Given the description of an element on the screen output the (x, y) to click on. 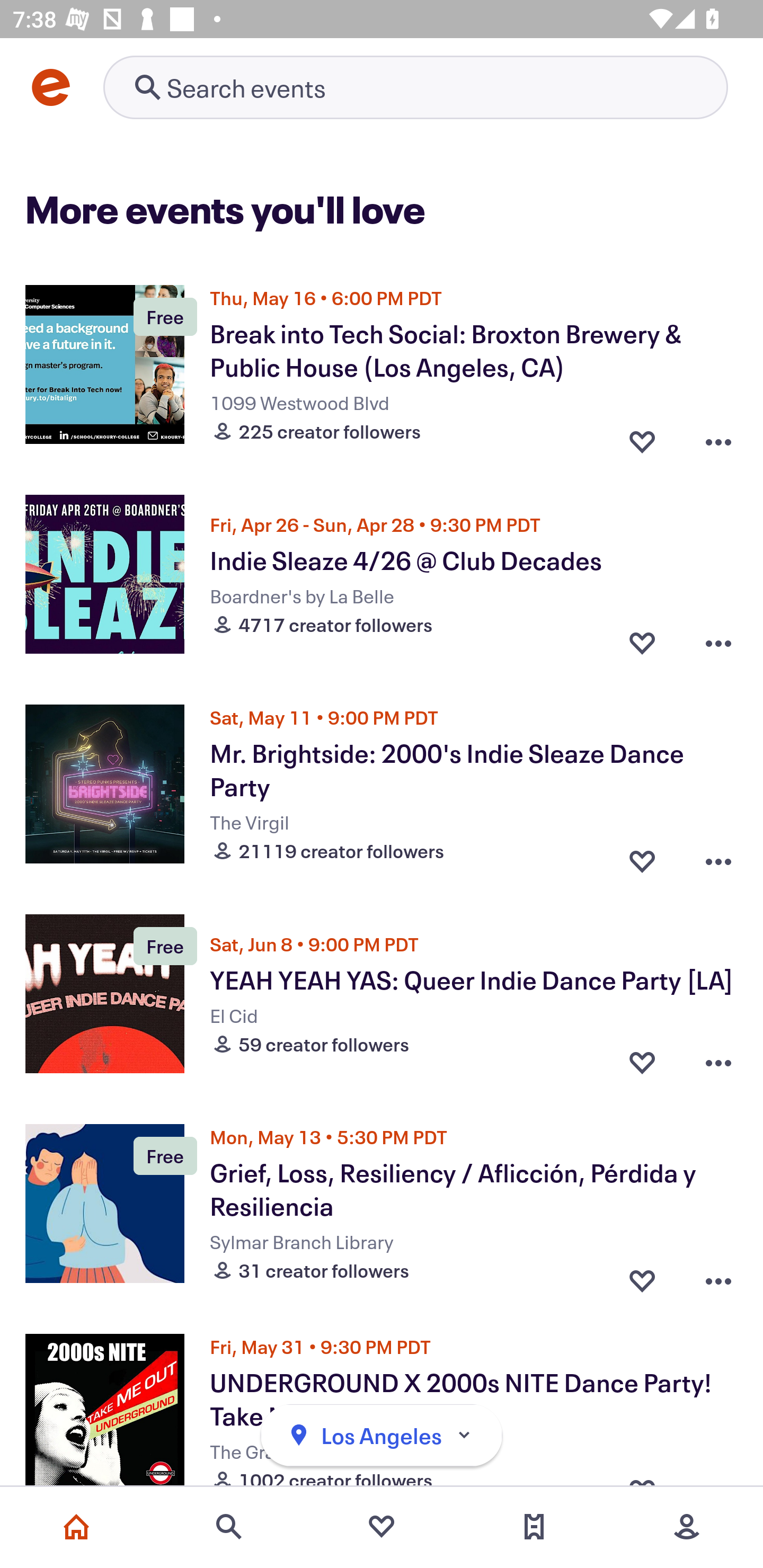
Retry's image Search events (415, 86)
Favorite button (642, 436)
Overflow menu button (718, 436)
Favorite button (642, 641)
Overflow menu button (718, 641)
Favorite button (642, 856)
Overflow menu button (718, 856)
Favorite button (642, 1062)
Overflow menu button (718, 1062)
Favorite button (642, 1275)
Overflow menu button (718, 1275)
Los Angeles (381, 1435)
Home (76, 1526)
Search events (228, 1526)
Favorites (381, 1526)
Tickets (533, 1526)
More (686, 1526)
